Given the description of an element on the screen output the (x, y) to click on. 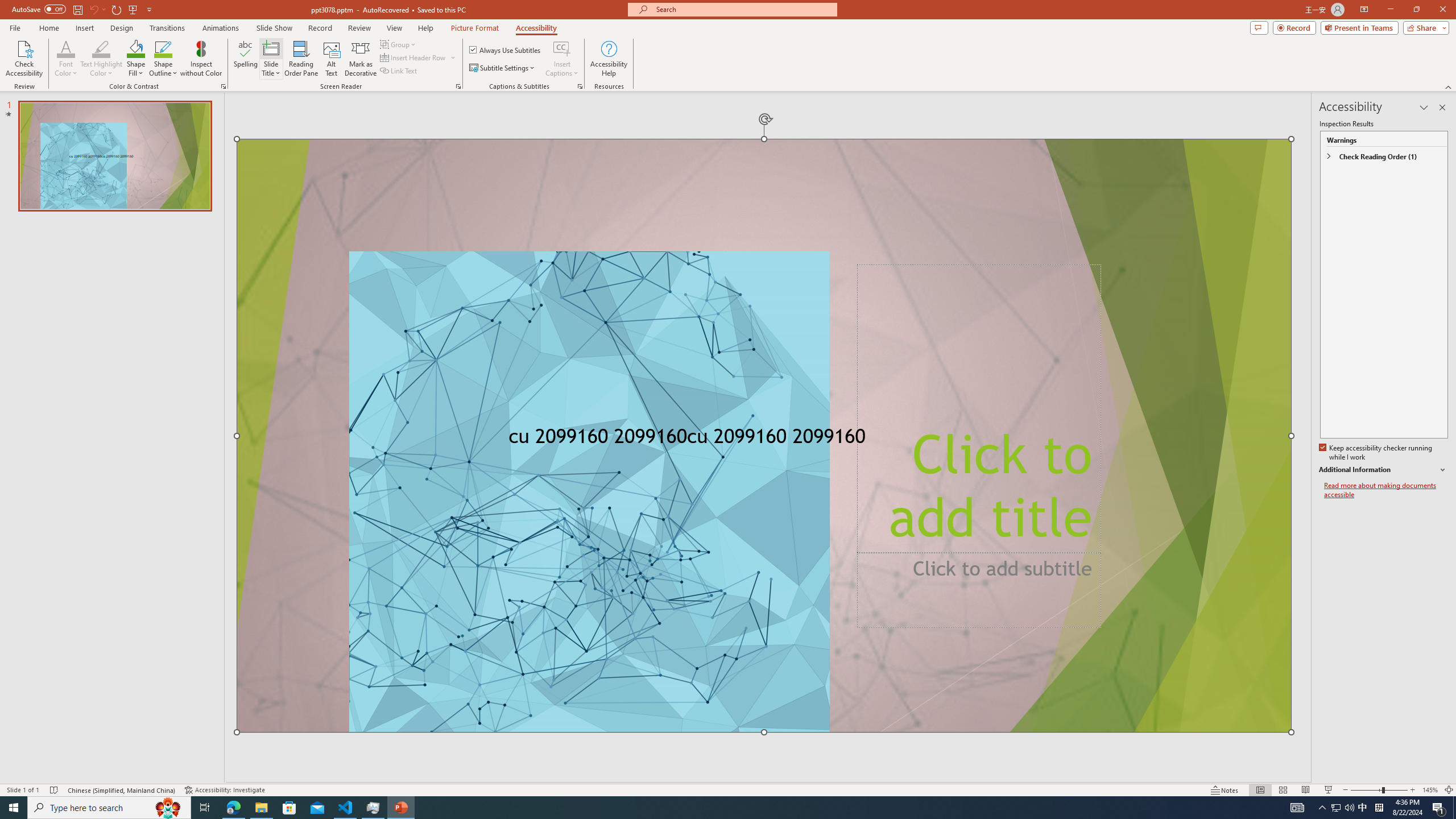
Color & Contrast (223, 85)
